Given the description of an element on the screen output the (x, y) to click on. 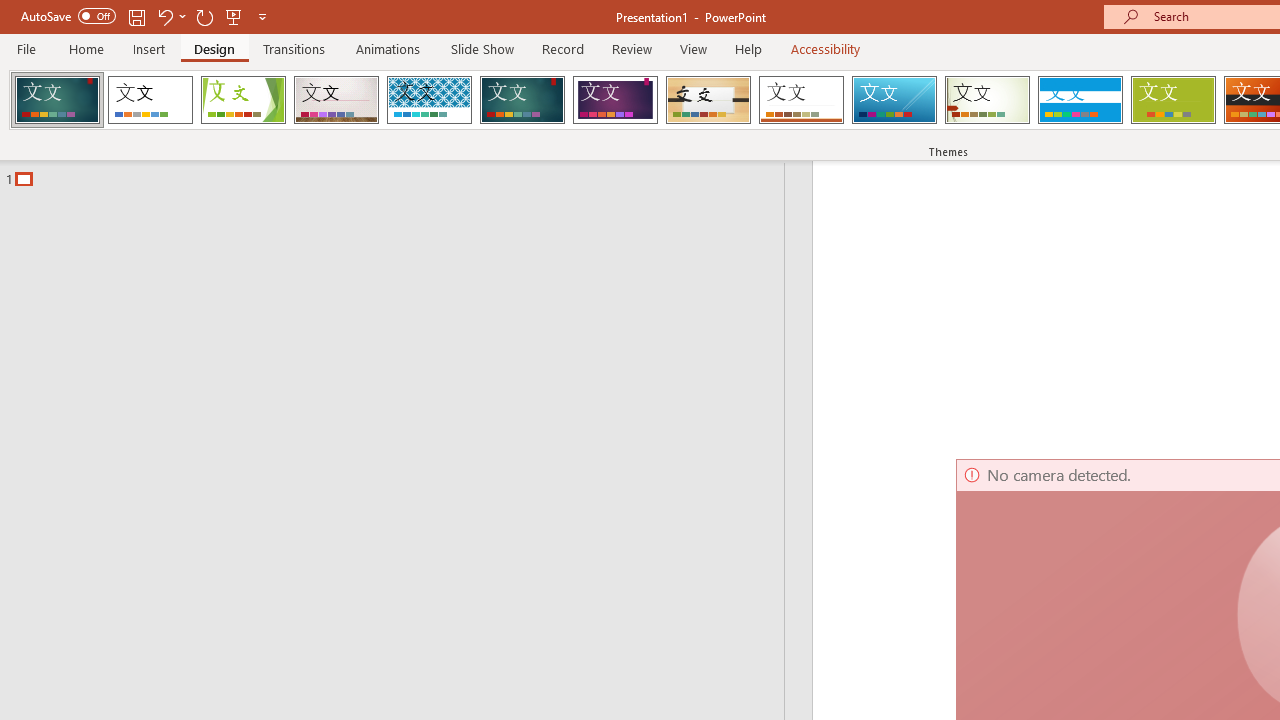
Ion (522, 100)
Outline (401, 174)
Banded (1080, 100)
Facet (243, 100)
Slice (893, 100)
Retrospect (801, 100)
Gallery (336, 100)
Basis (1172, 100)
Integral (429, 100)
